Given the description of an element on the screen output the (x, y) to click on. 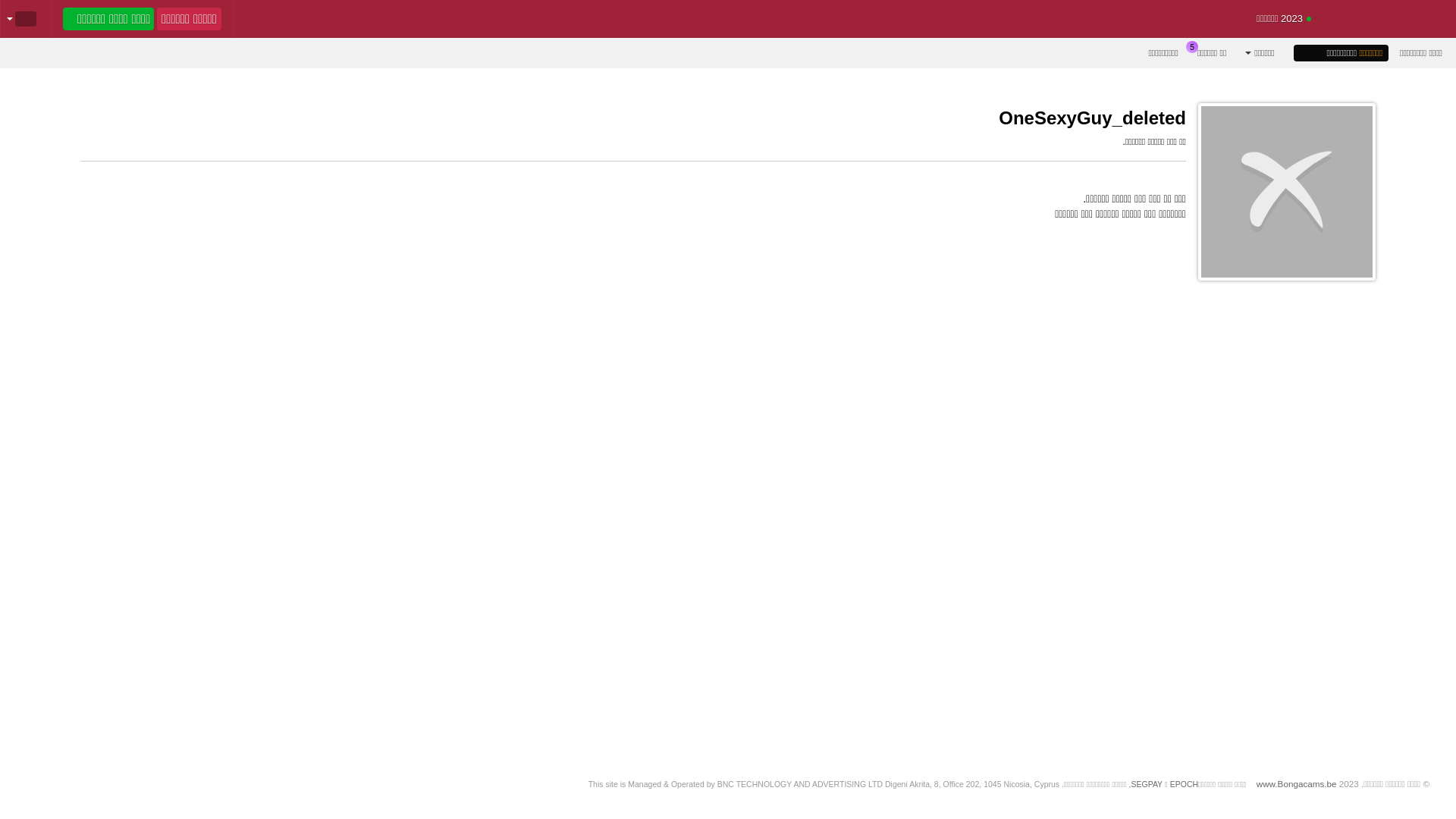
RTA Element type: hover (1395, 802)
www.Bongacams.be Element type: text (1296, 783)
ICRA Element type: hover (1328, 802)
SEGPAY Element type: text (1146, 783)
SafeLabeling Element type: hover (1261, 802)
EPOCH Element type: text (1184, 783)
Protected by DMCA Element type: hover (1186, 802)
Association of Sites Advocating Child Protection Element type: hover (1121, 802)
